Given the description of an element on the screen output the (x, y) to click on. 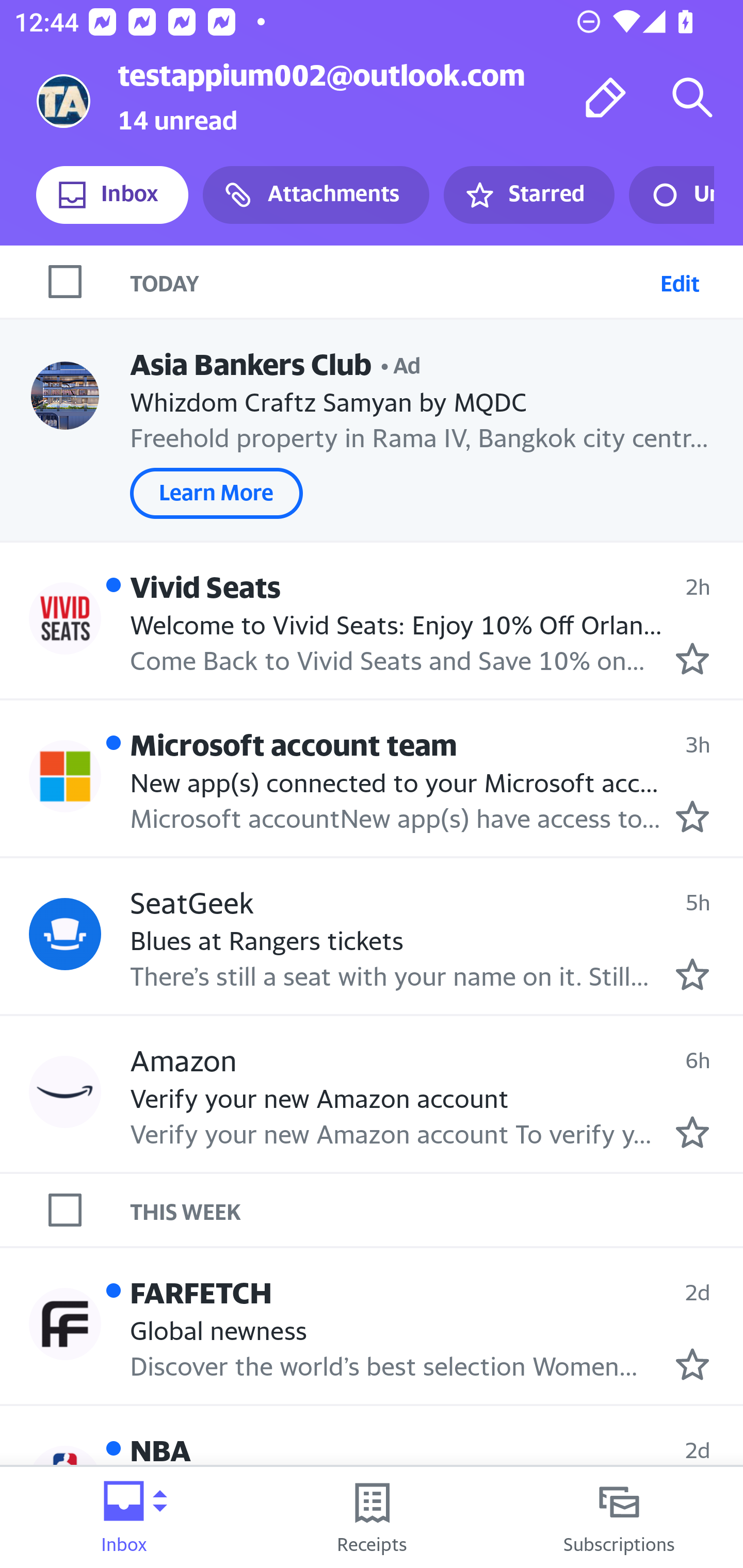
Compose (605, 97)
Search mail (692, 97)
Attachments (315, 195)
Starred (528, 195)
TODAY (391, 281)
Edit Select emails (679, 281)
Profile
Vivid Seats (64, 617)
Mark as starred. (692, 659)
Profile
Microsoft account team (64, 776)
Mark as starred. (692, 816)
Profile
SeatGeek (64, 934)
Mark as starred. (692, 974)
Profile
Amazon (64, 1091)
Mark as starred. (692, 1132)
THIS WEEK (436, 1209)
Profile
FARFETCH (64, 1323)
Mark as starred. (692, 1364)
Inbox Folder picker (123, 1517)
Receipts (371, 1517)
Subscriptions (619, 1517)
